Given the description of an element on the screen output the (x, y) to click on. 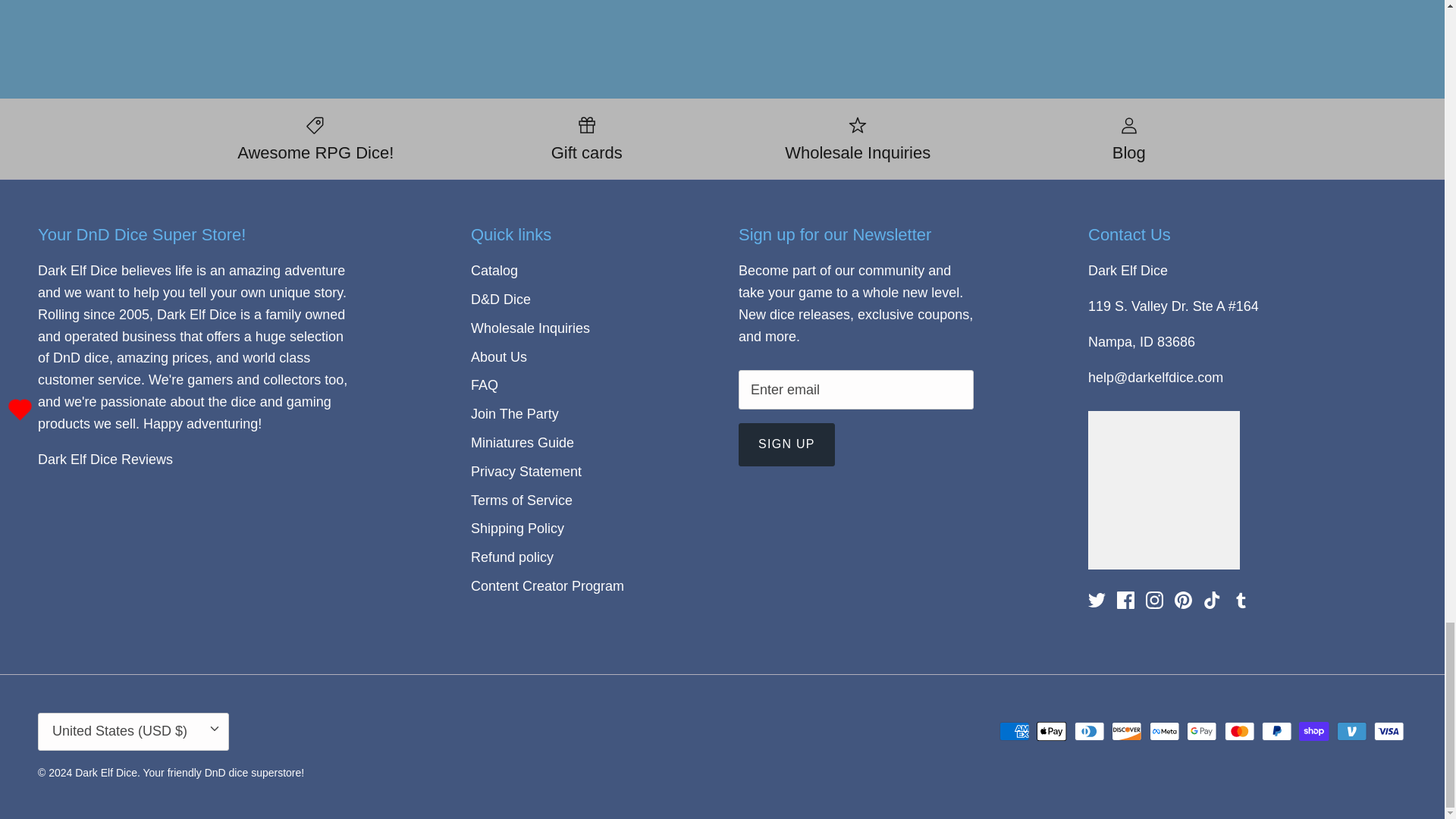
Diners Club (1089, 731)
Facebook (1125, 600)
Twitter (1096, 600)
Instagram (1154, 600)
American Express (1013, 731)
Apple Pay (1051, 731)
Pinterest (1183, 600)
